Given the description of an element on the screen output the (x, y) to click on. 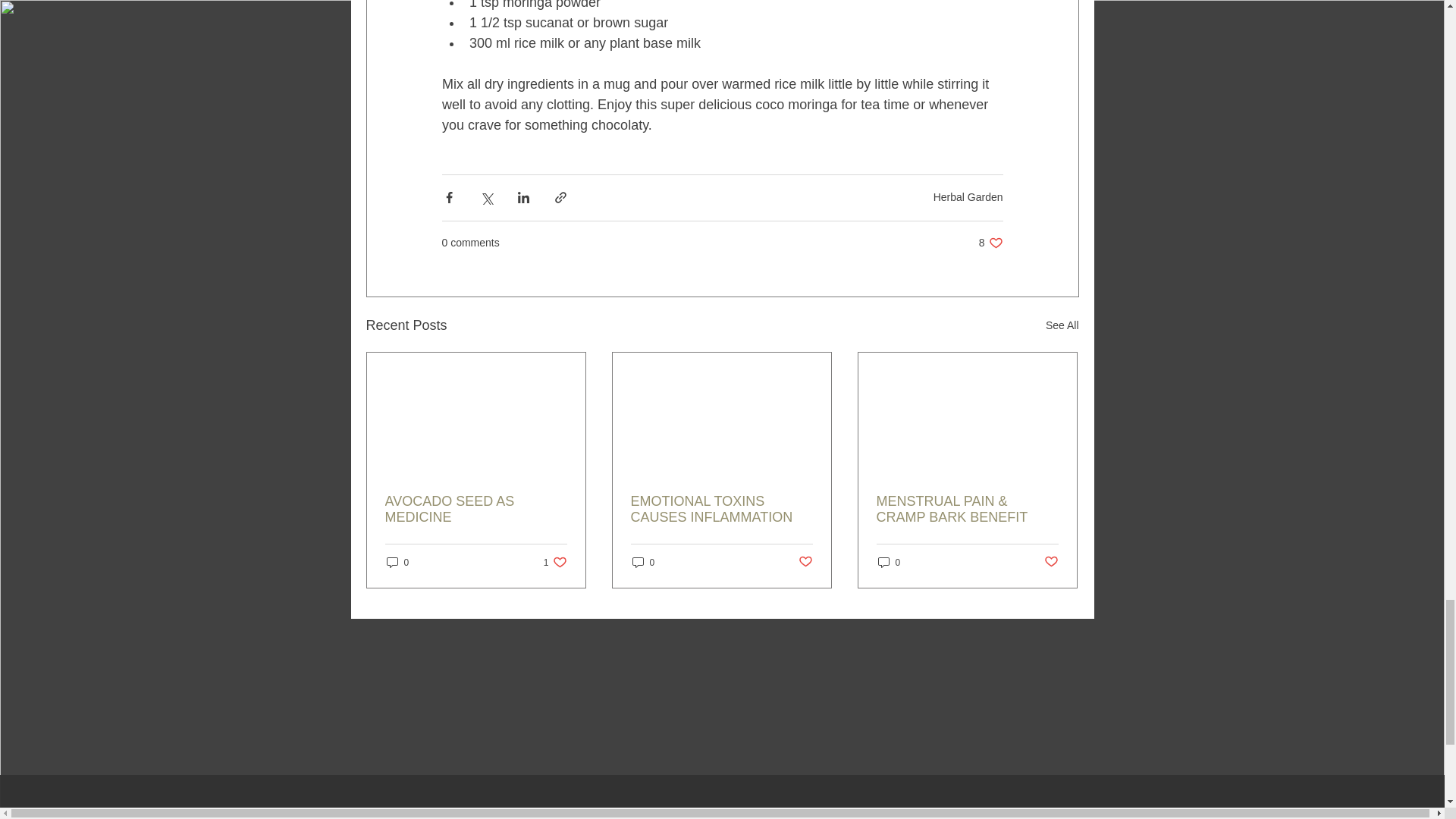
0 (990, 242)
Post not marked as liked (889, 562)
See All (1050, 562)
Post not marked as liked (1061, 325)
0 (804, 562)
EMOTIONAL TOXINS CAUSES INFLAMMATION (643, 562)
0 (721, 509)
Herbal Garden (397, 562)
AVOCADO SEED AS MEDICINE (968, 196)
